Given the description of an element on the screen output the (x, y) to click on. 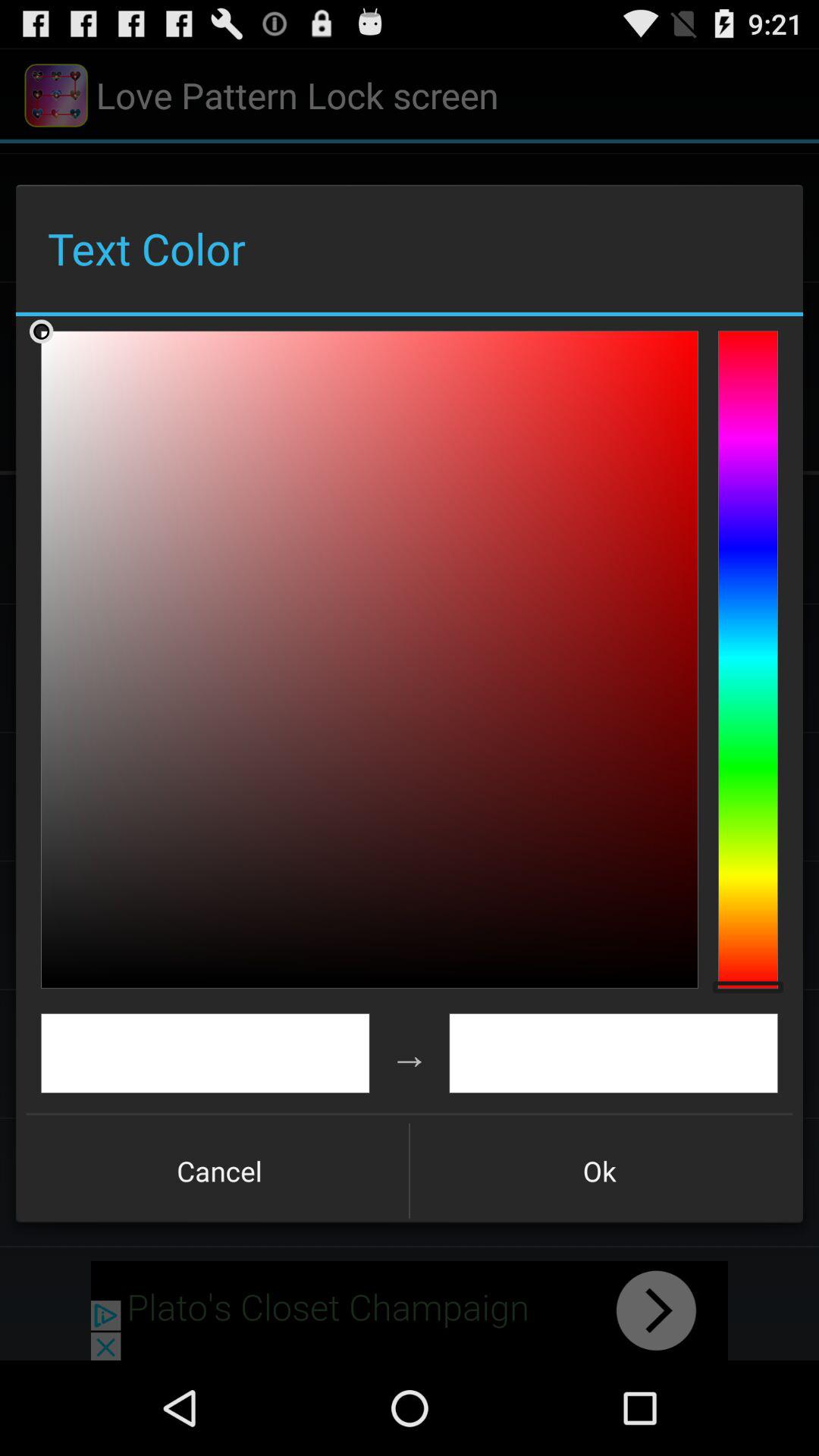
open ok item (599, 1170)
